Given the description of an element on the screen output the (x, y) to click on. 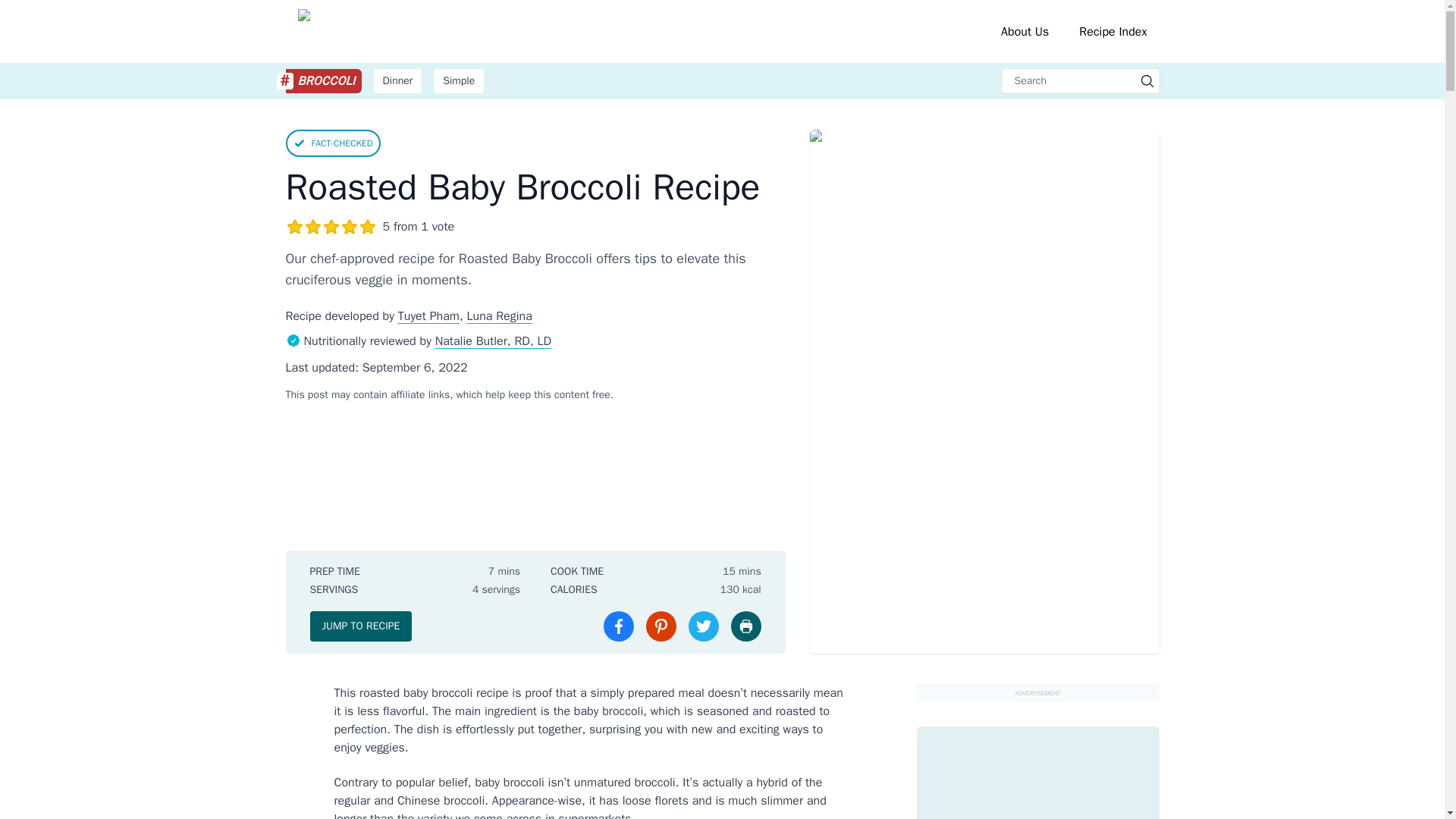
Dinner (398, 80)
Healthy Recipes 101 (448, 31)
Natalie Butler, RD, LD (493, 340)
Simple (458, 80)
Luna Regina (499, 315)
Dinner (398, 80)
affiliate links (682, 81)
Healthy Recipes 101 (419, 394)
About Us (448, 31)
